Given the description of an element on the screen output the (x, y) to click on. 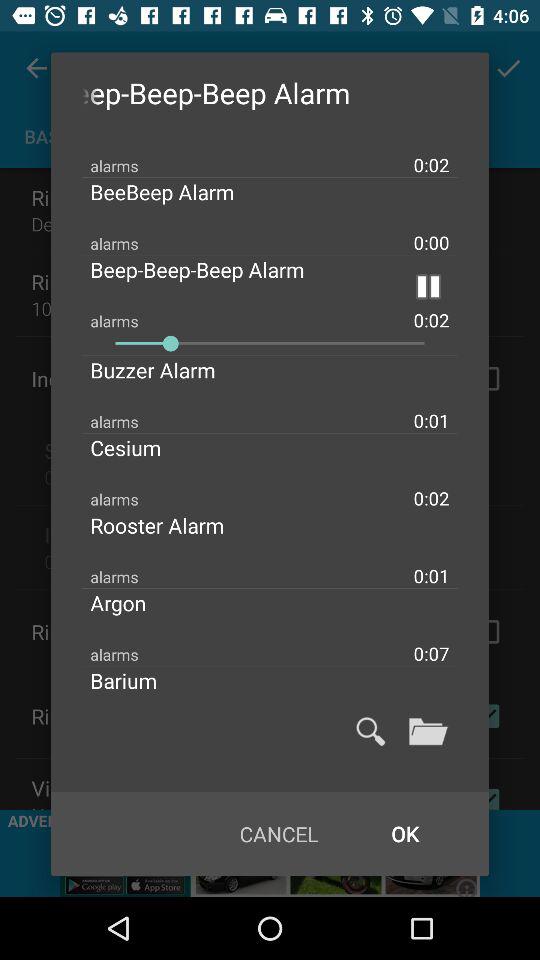
launch cancel icon (278, 833)
